Given the description of an element on the screen output the (x, y) to click on. 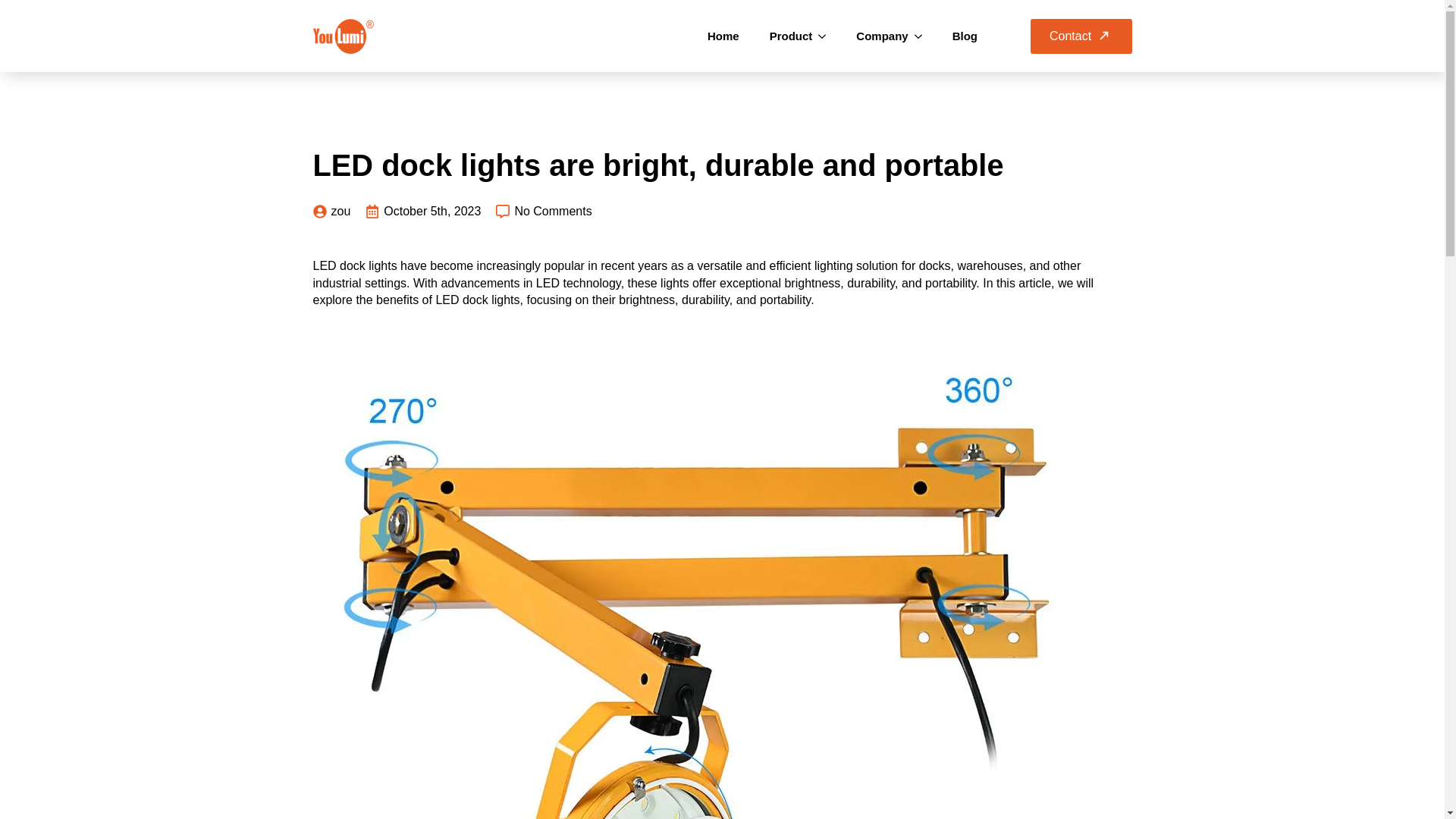
Company (874, 35)
No Comments (543, 211)
Product (783, 35)
Home (723, 35)
Contact (1081, 35)
Blog (964, 35)
